Given the description of an element on the screen output the (x, y) to click on. 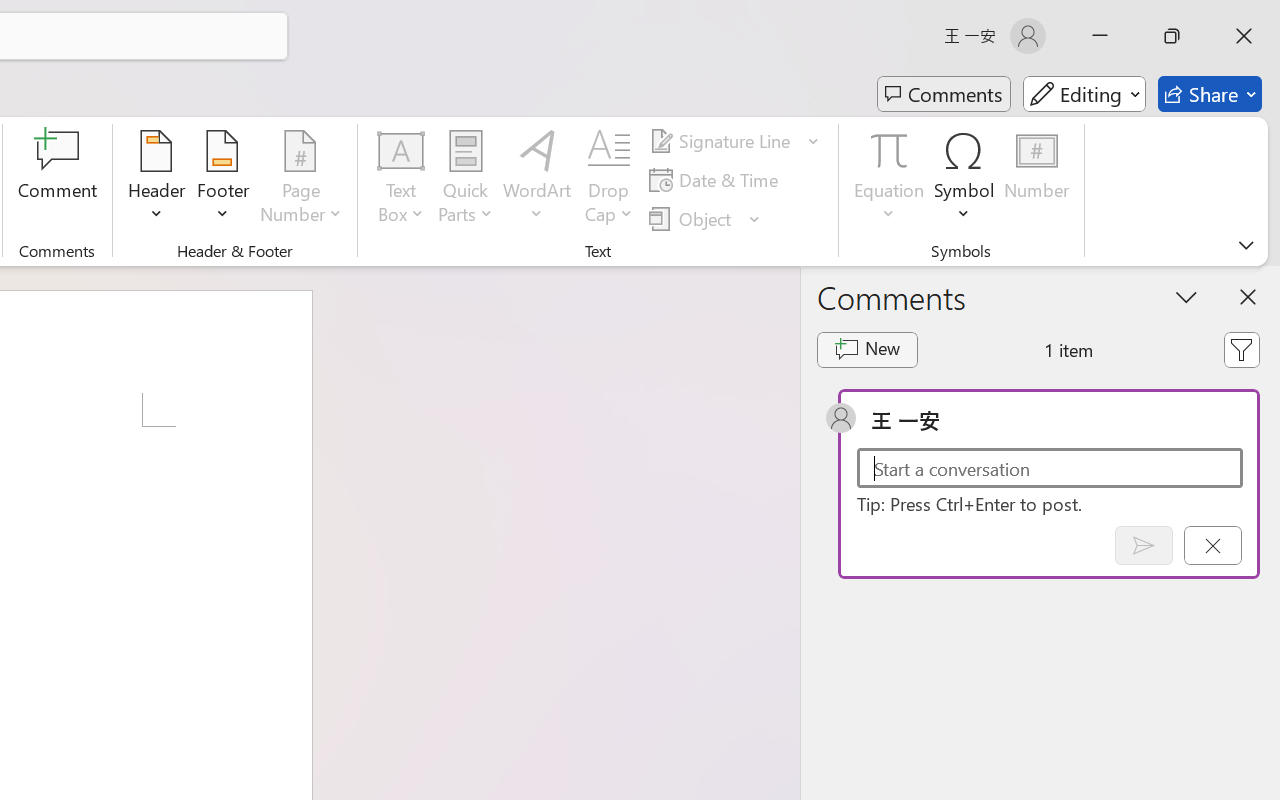
Footer (222, 179)
Signature Line (734, 141)
Start a conversation (1050, 467)
Comment (58, 179)
Quick Parts (465, 179)
Page Number (301, 179)
Symbol (964, 179)
Equation (889, 150)
